Given the description of an element on the screen output the (x, y) to click on. 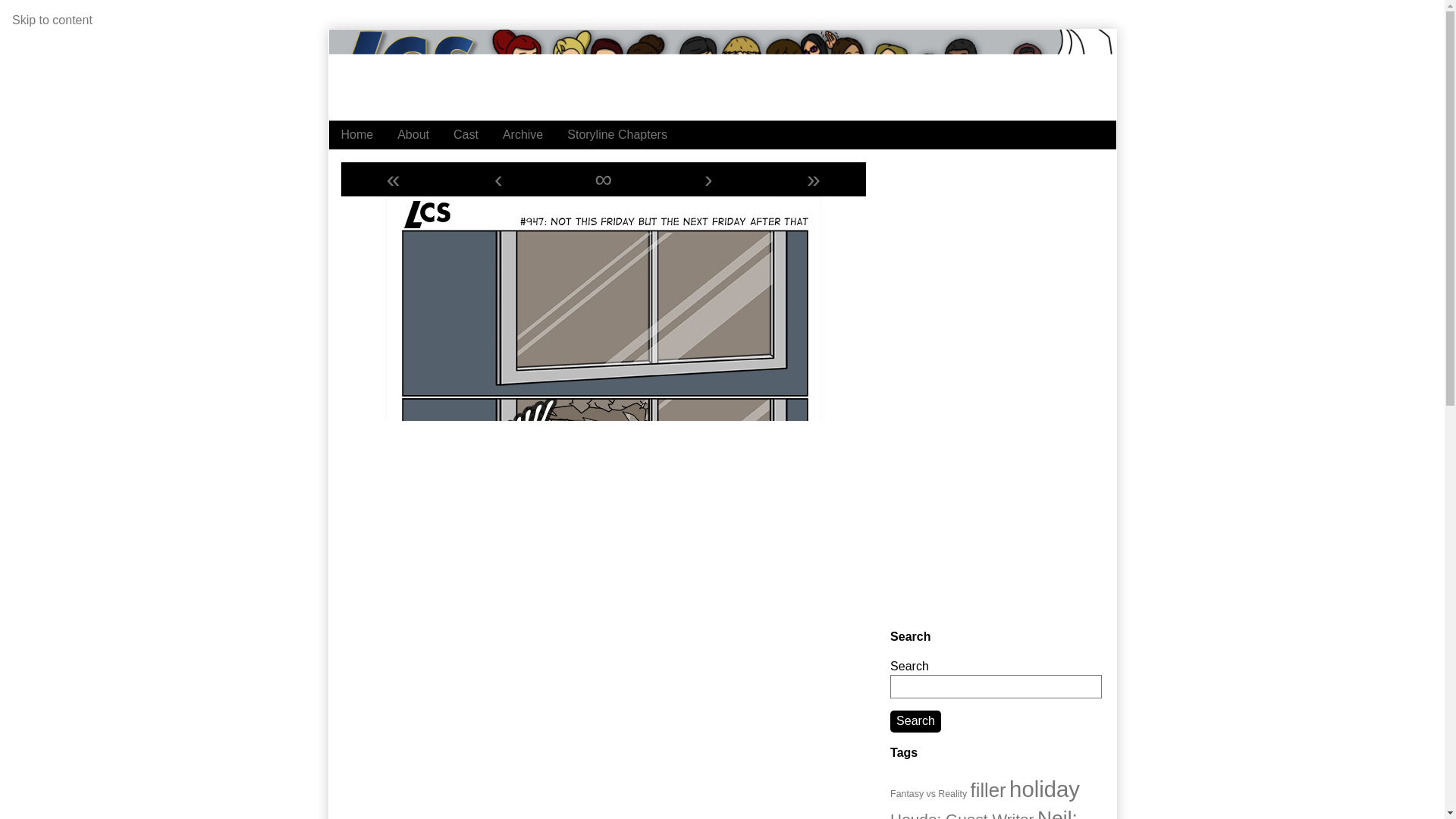
Neil: Secret Agent (983, 812)
Fantasy vs Reality (927, 793)
Storyline Chapters (616, 134)
Search (914, 721)
Archive (522, 134)
filler (988, 789)
Home (357, 134)
Skip to content (52, 19)
Houde: Guest Writer (961, 814)
Cast (465, 134)
